Given the description of an element on the screen output the (x, y) to click on. 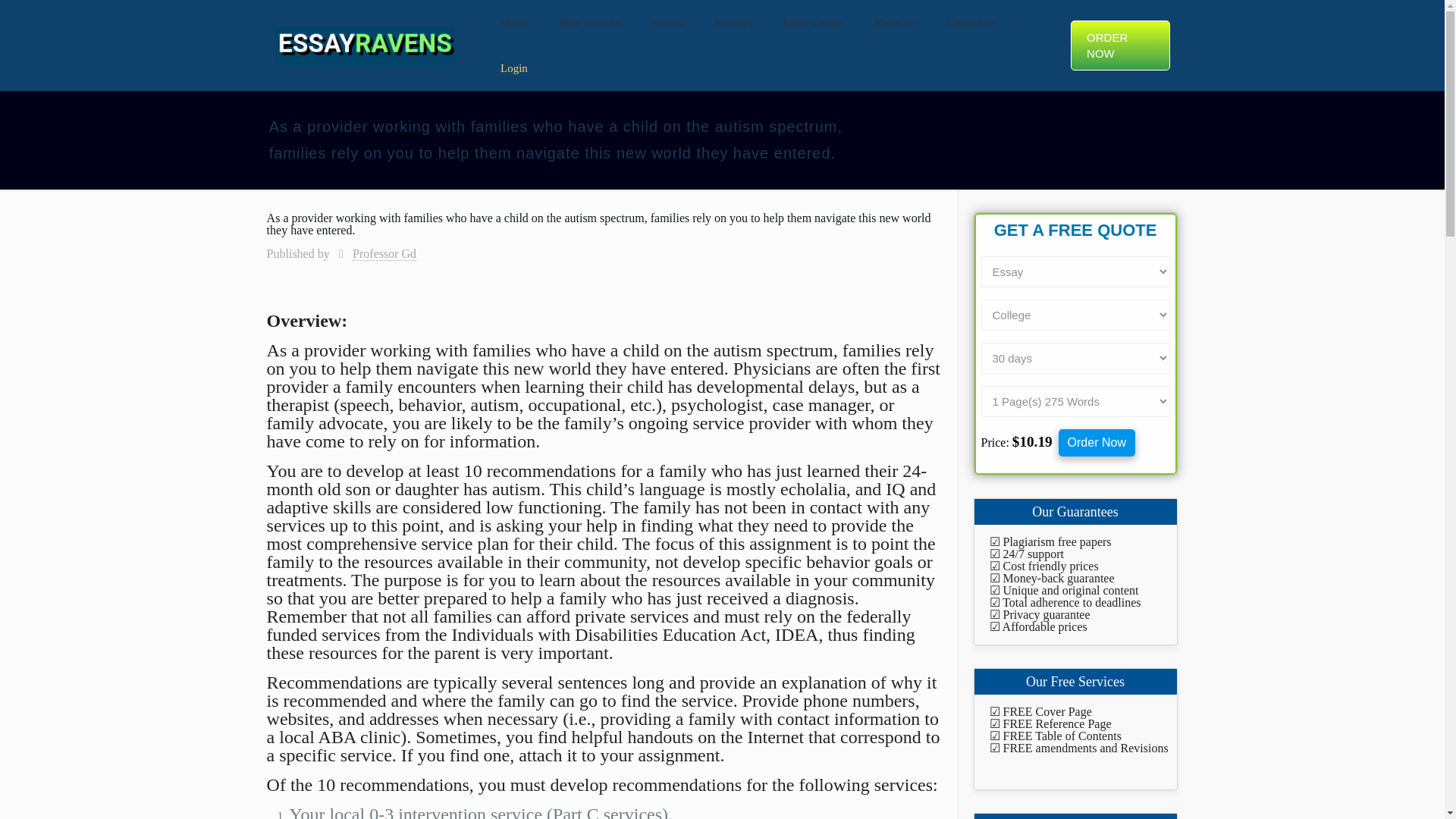
Pricing (666, 22)
Home (513, 22)
Contact us (970, 22)
Login (513, 67)
Home (934, 119)
Professor Gd (384, 254)
Order Now (1096, 442)
Psychology (1111, 119)
About Us (894, 22)
Essay Center (1016, 119)
Essay Center (813, 22)
How it works (589, 22)
ORDER NOW (1119, 45)
Services (733, 22)
